Given the description of an element on the screen output the (x, y) to click on. 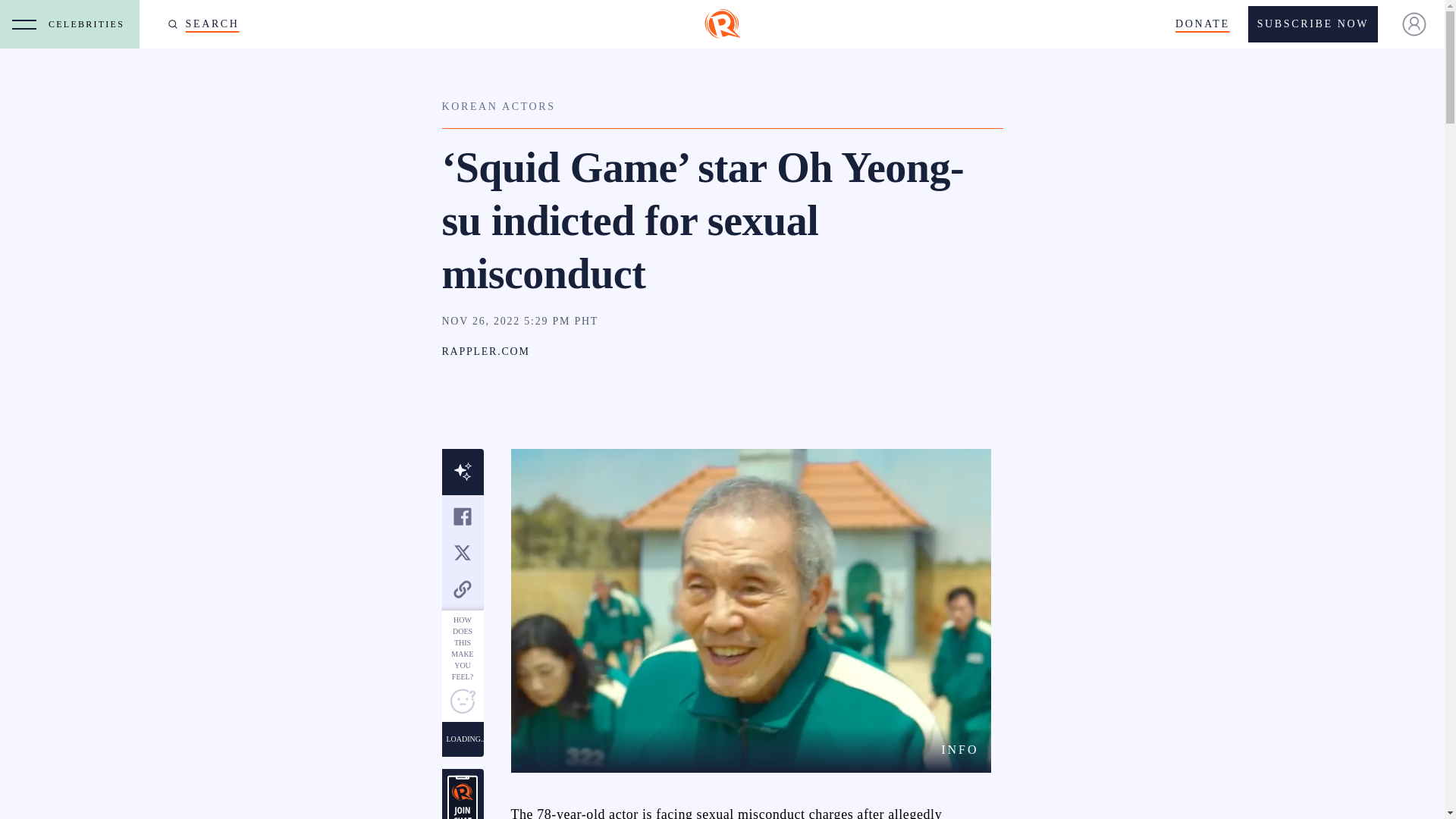
OPEN NAVIGATION (24, 24)
CELEBRITIES (90, 23)
